Given the description of an element on the screen output the (x, y) to click on. 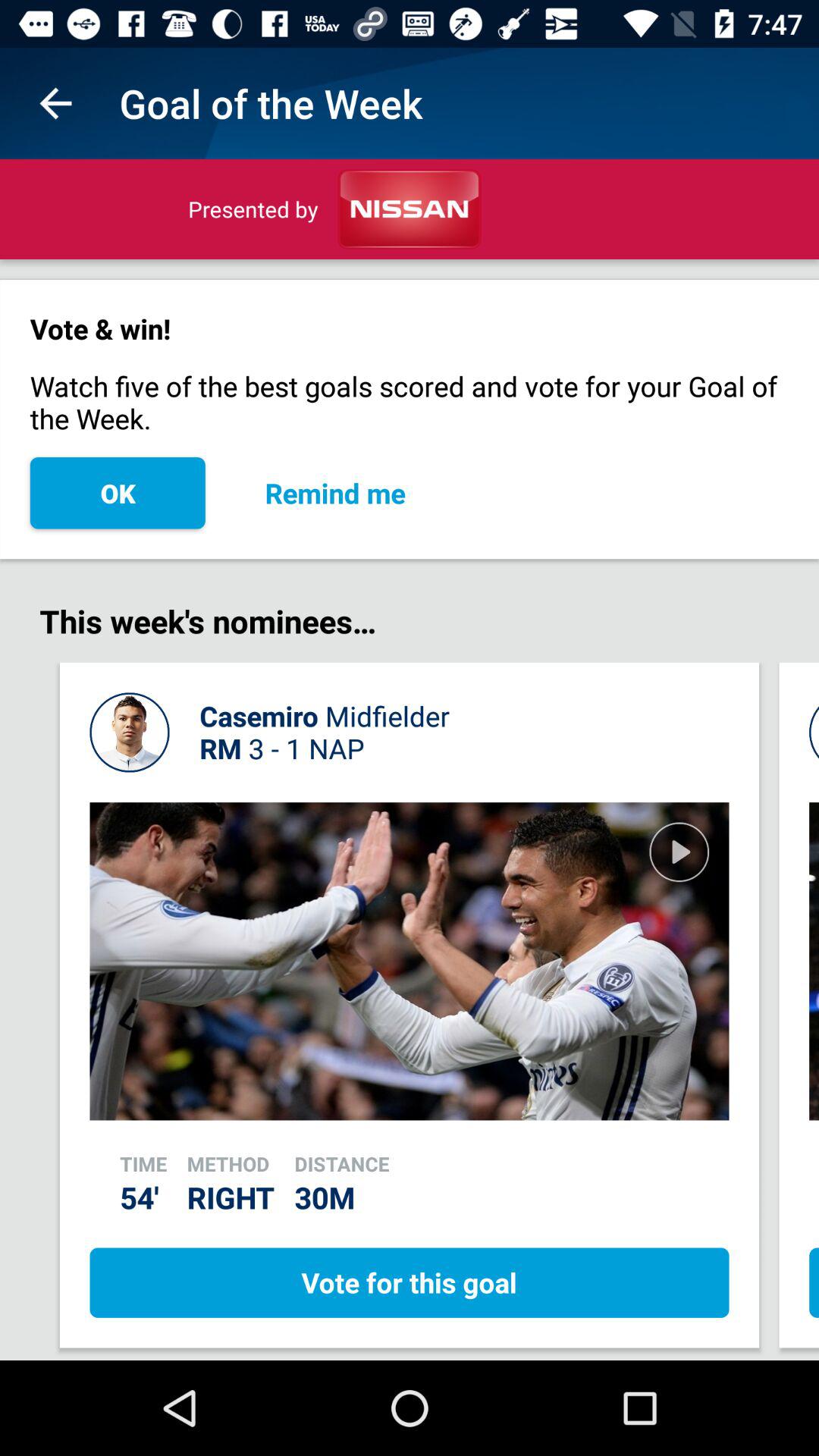
click remind me (335, 492)
